Given the description of an element on the screen output the (x, y) to click on. 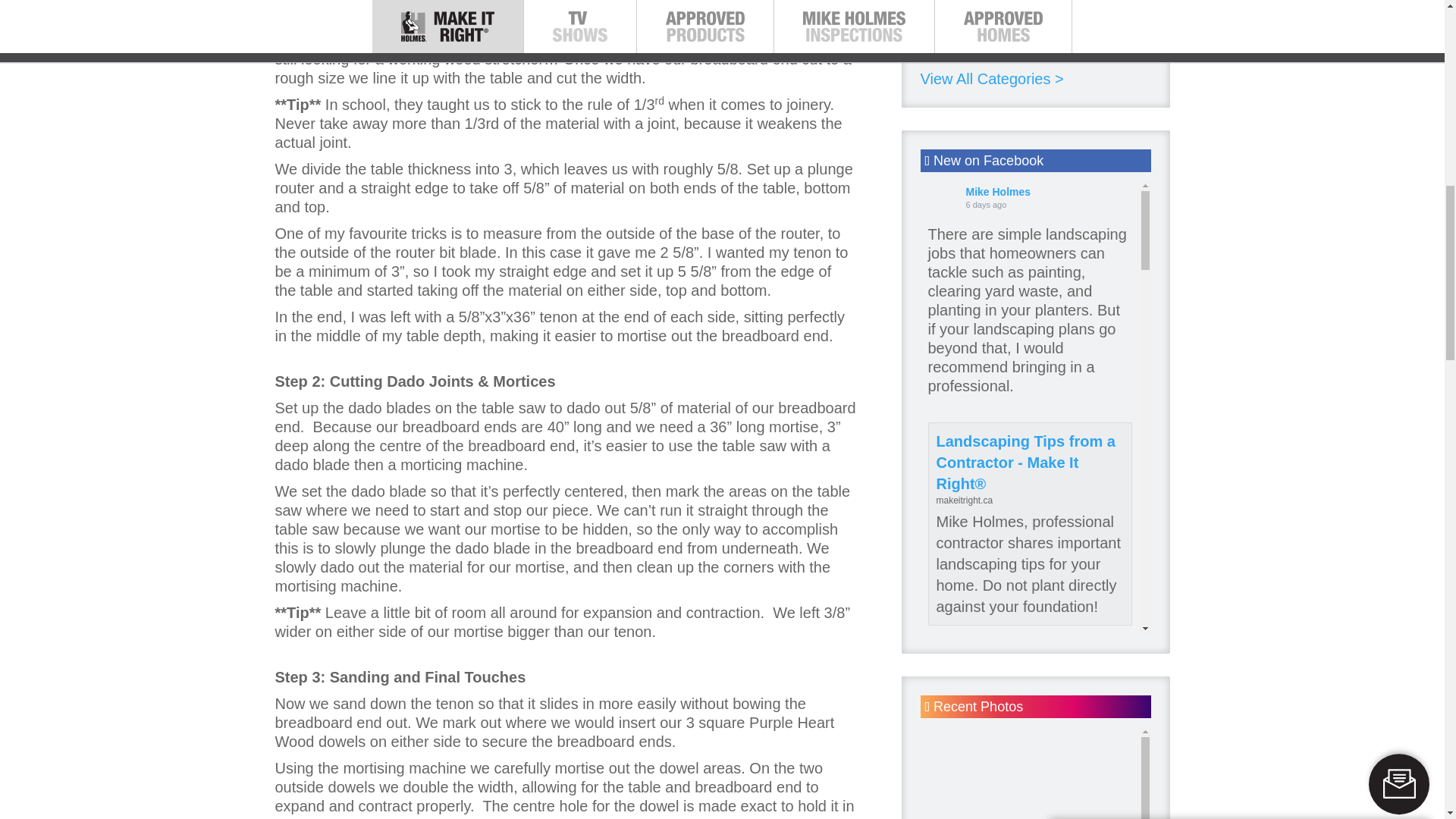
Share (1021, 777)
View on Facebook (961, 637)
Share (1021, 637)
Mike Holmes (943, 814)
View on Facebook (961, 777)
Mike Holmes (943, 685)
Subscribe (1239, 345)
